Given the description of an element on the screen output the (x, y) to click on. 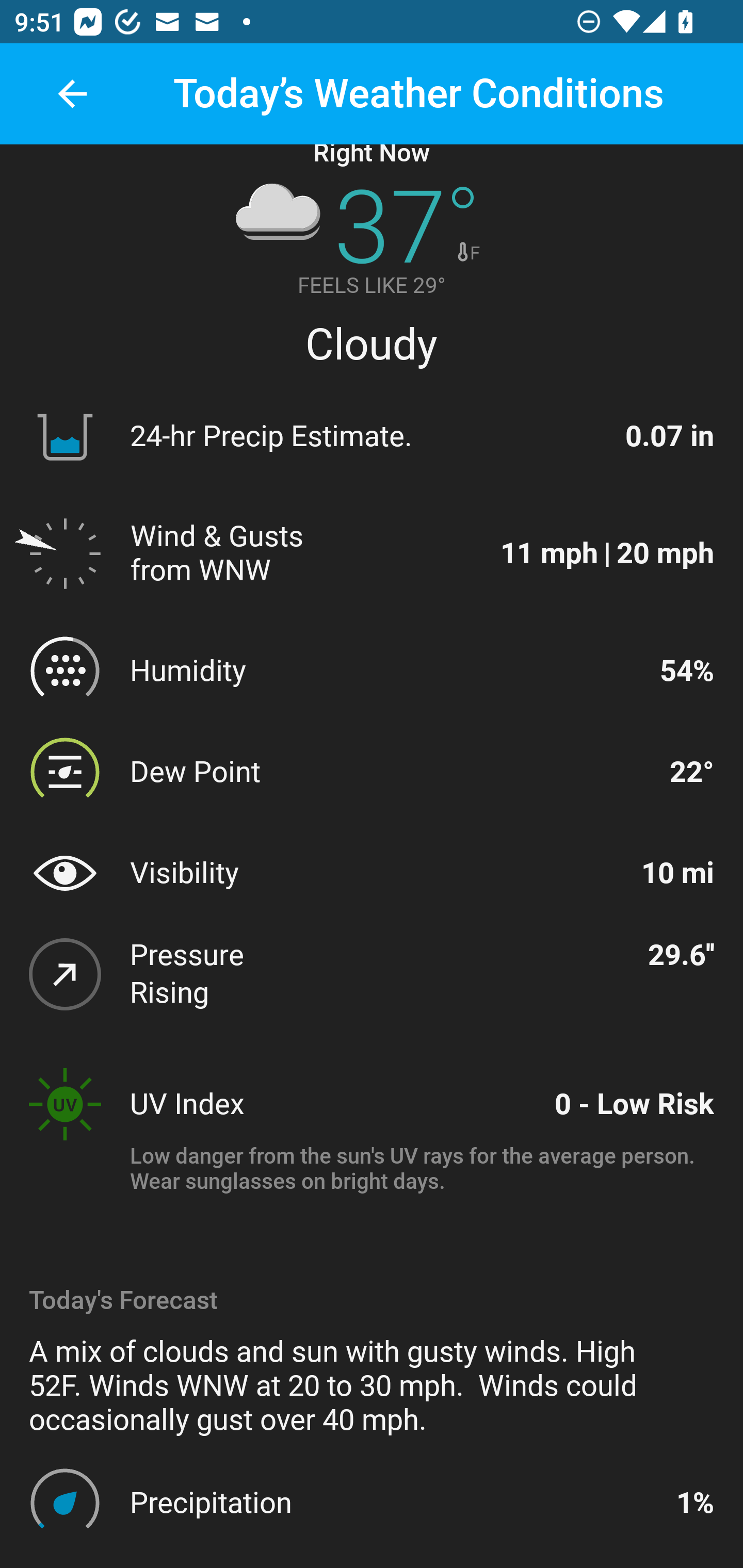
back (71, 93)
Precipitation (394, 1502)
1% (695, 1502)
